Given the description of an element on the screen output the (x, y) to click on. 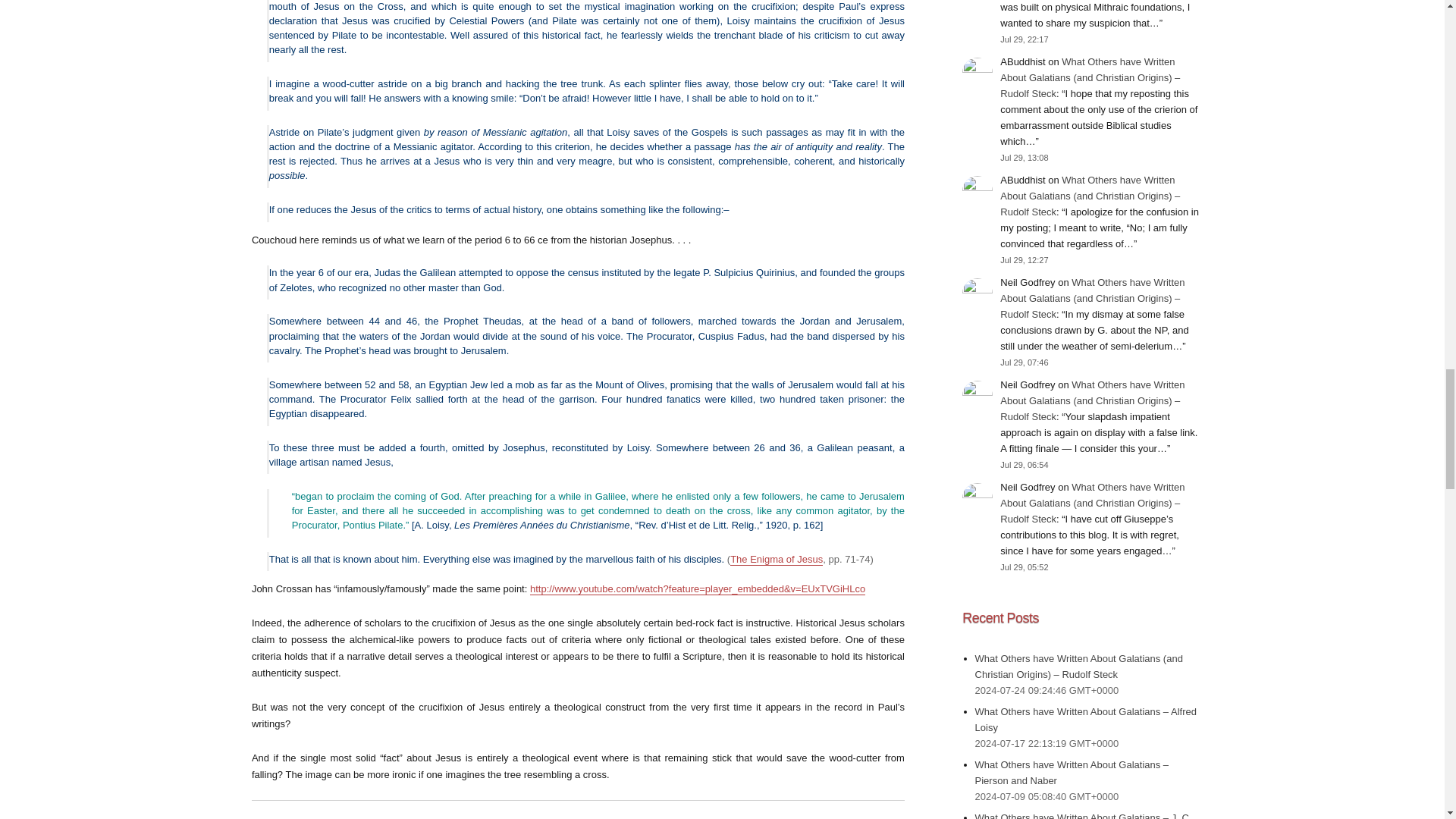
The Enigma of Jesus (776, 559)
